Given the description of an element on the screen output the (x, y) to click on. 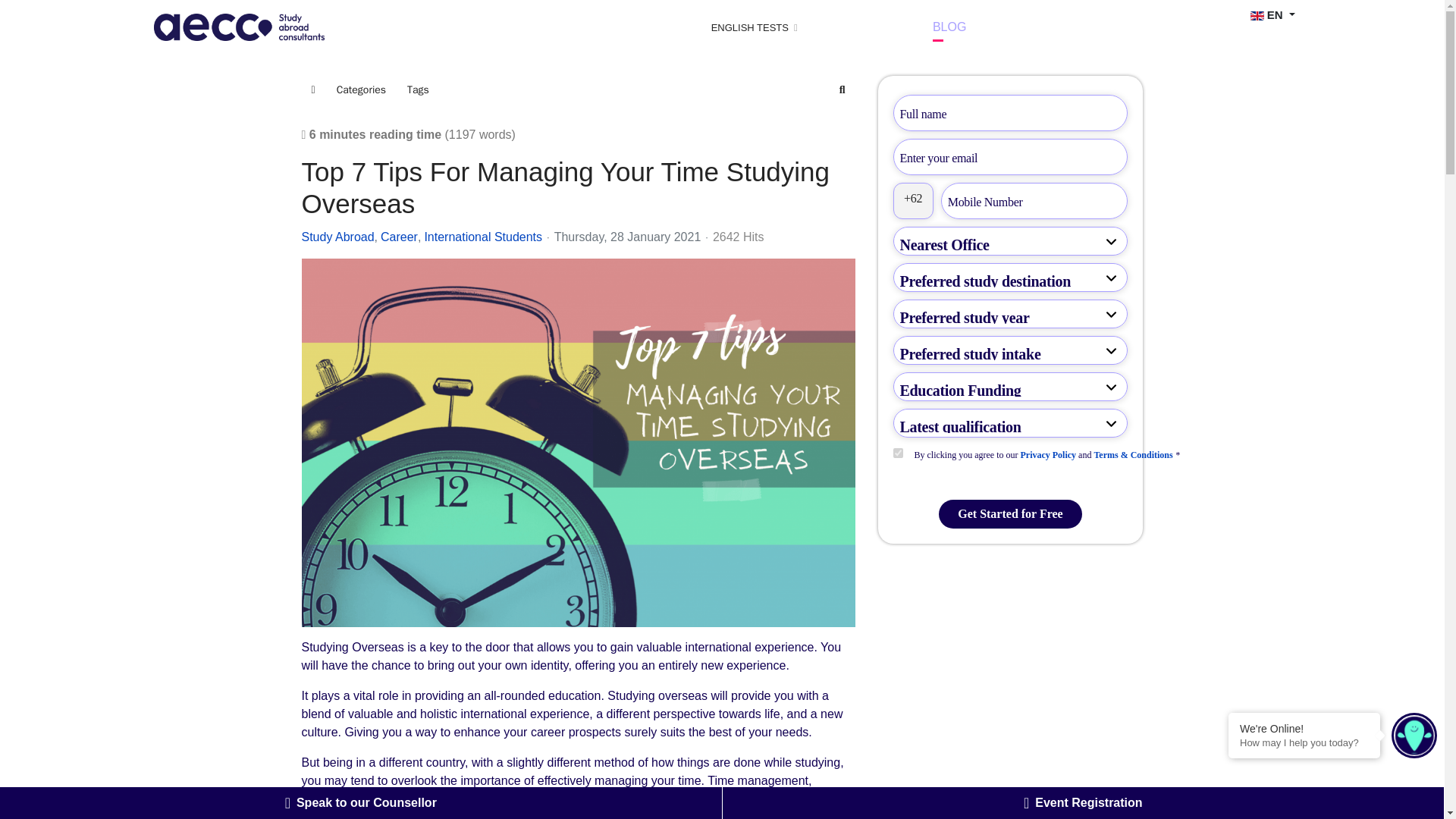
Tags (418, 90)
STUDY ABROAD (643, 27)
  EN (1270, 13)
STUDENT SERVICES (397, 27)
Categories (361, 90)
We're Online! (1304, 728)
STUDENT VISA (527, 27)
on (897, 452)
How may I help you today? (1304, 742)
